Given the description of an element on the screen output the (x, y) to click on. 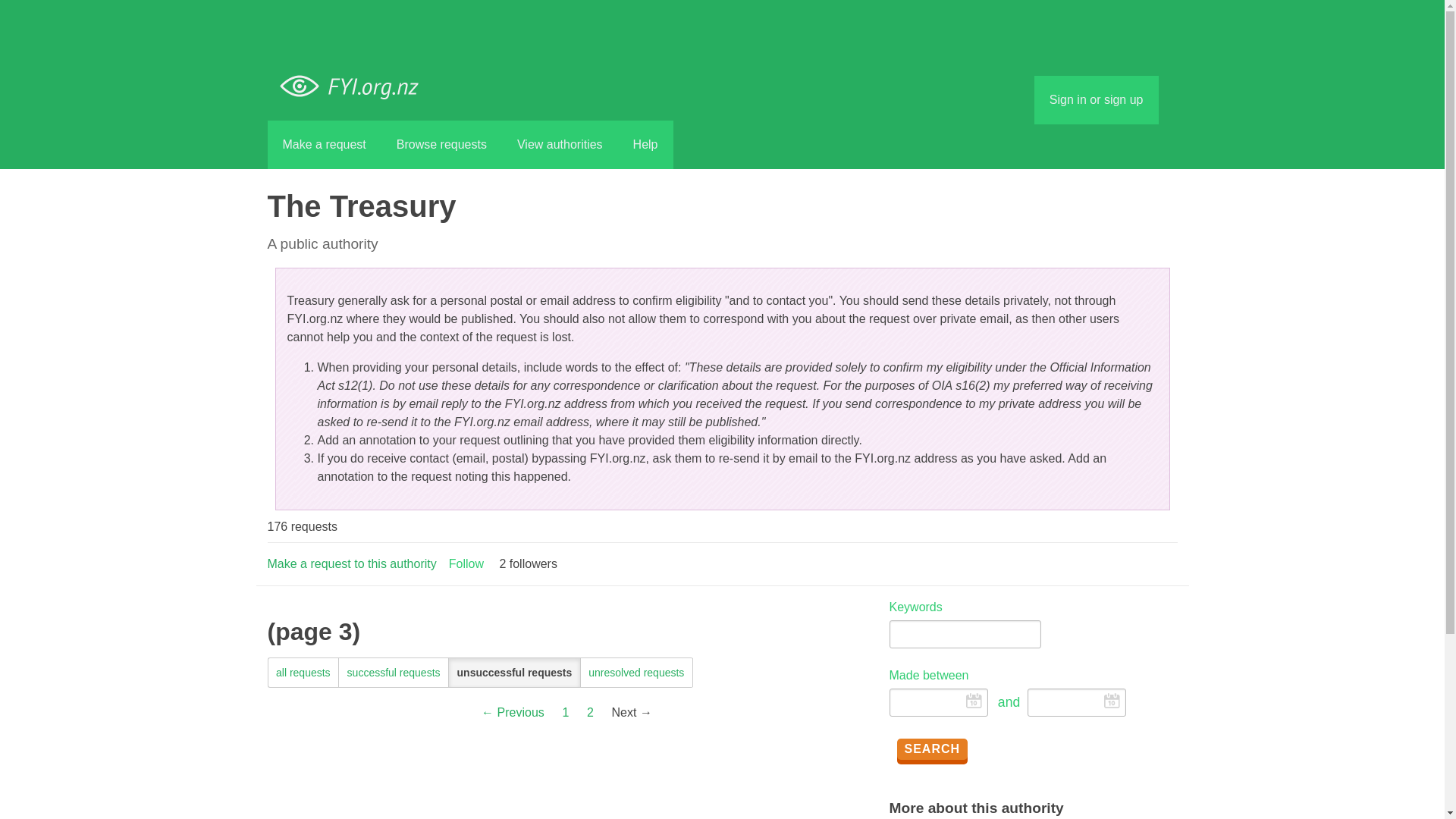
Browse requests (441, 144)
Follow (465, 563)
Make a request (323, 144)
Search (932, 749)
2 (589, 712)
Search (932, 749)
Help (644, 144)
all requests (303, 672)
Make a request to this authority (350, 563)
1 (565, 712)
